Given the description of an element on the screen output the (x, y) to click on. 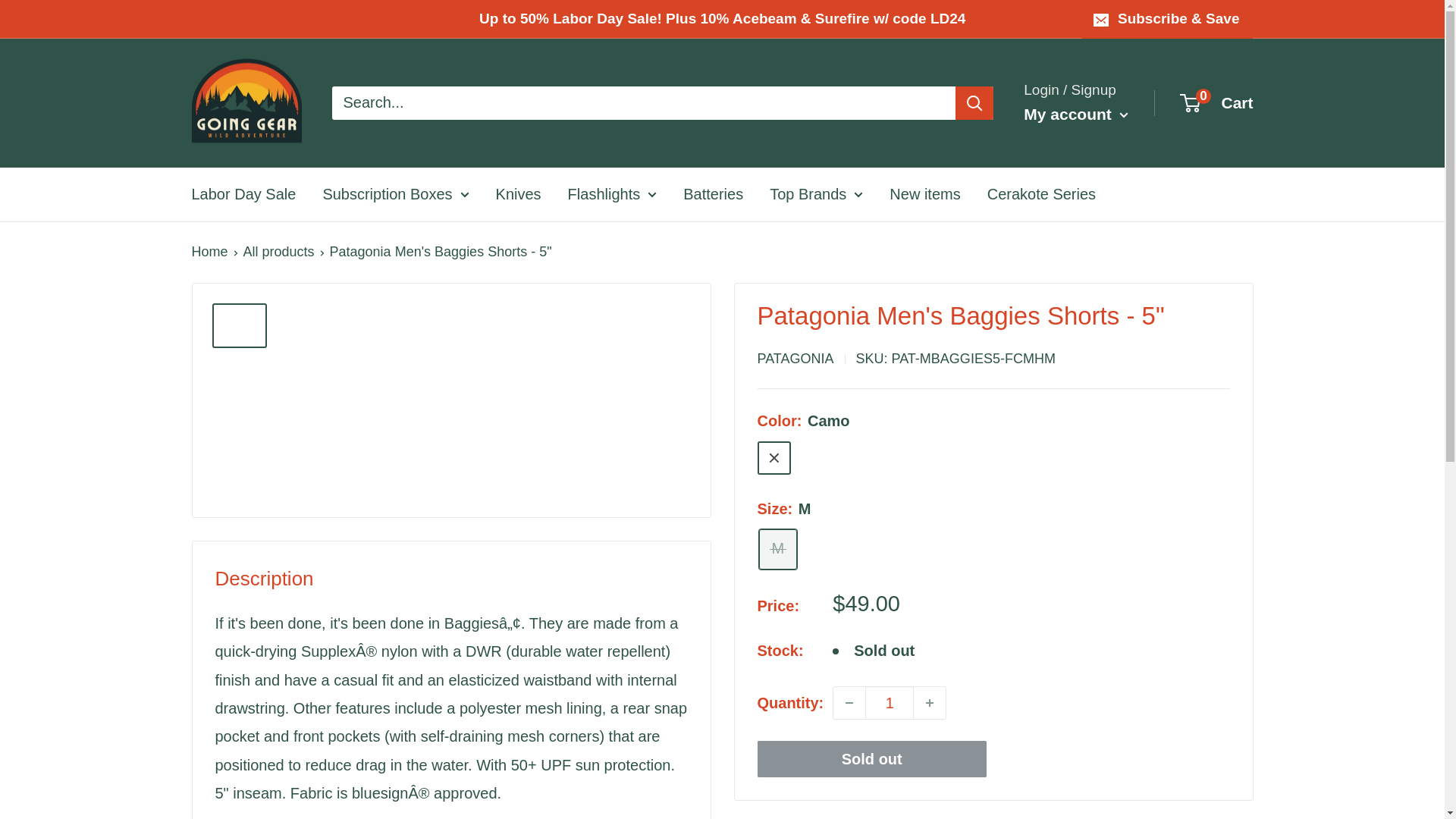
Camo (773, 457)
M (777, 548)
1 (889, 703)
Decrease quantity by 1 (848, 703)
Increase quantity by 1 (929, 703)
